Given the description of an element on the screen output the (x, y) to click on. 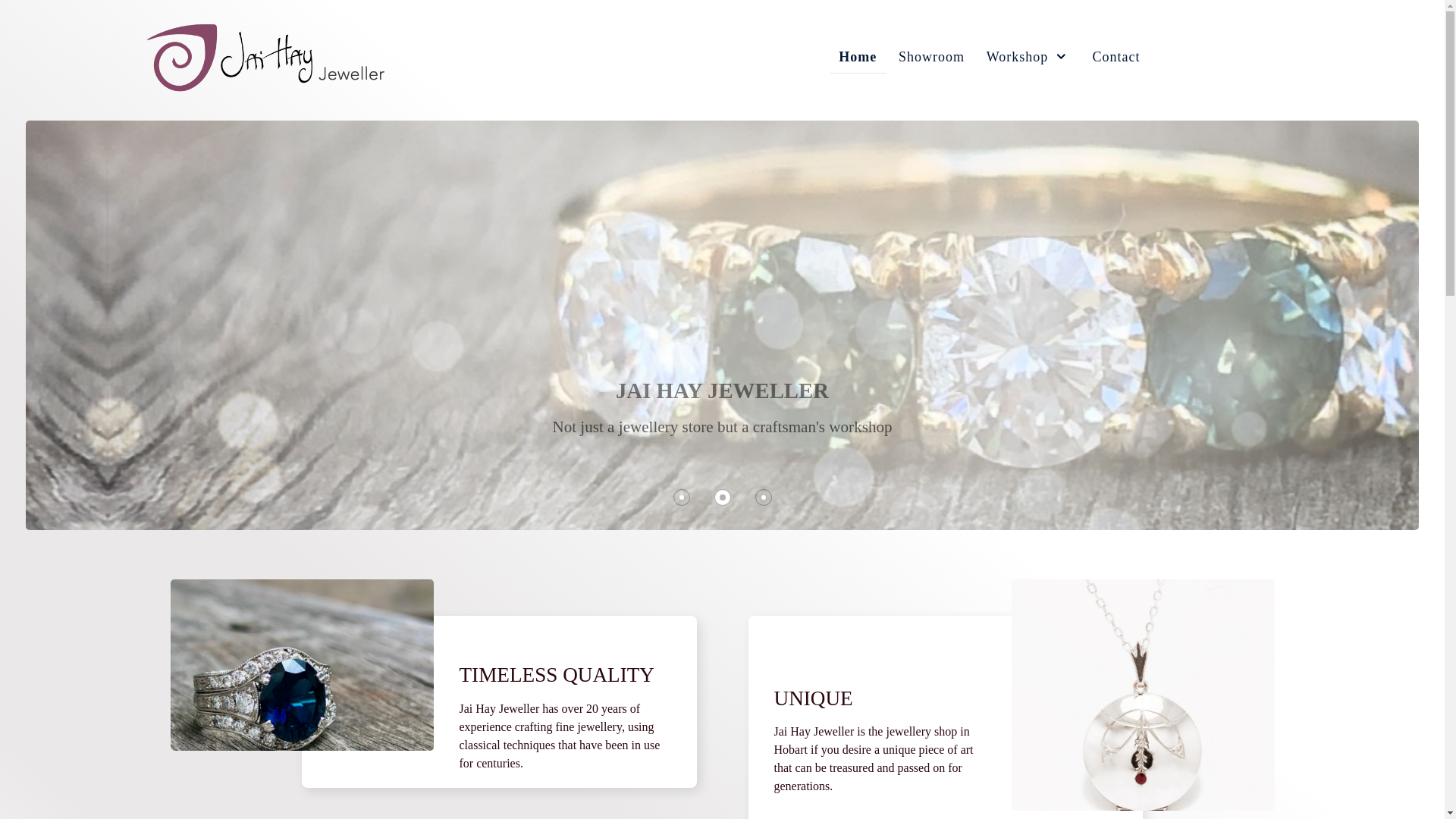
Contact Element type: text (1115, 56)
Jai Hay Jeweller Element type: hover (266, 54)
Home Element type: text (857, 57)
Showroom Element type: text (931, 56)
